Given the description of an element on the screen output the (x, y) to click on. 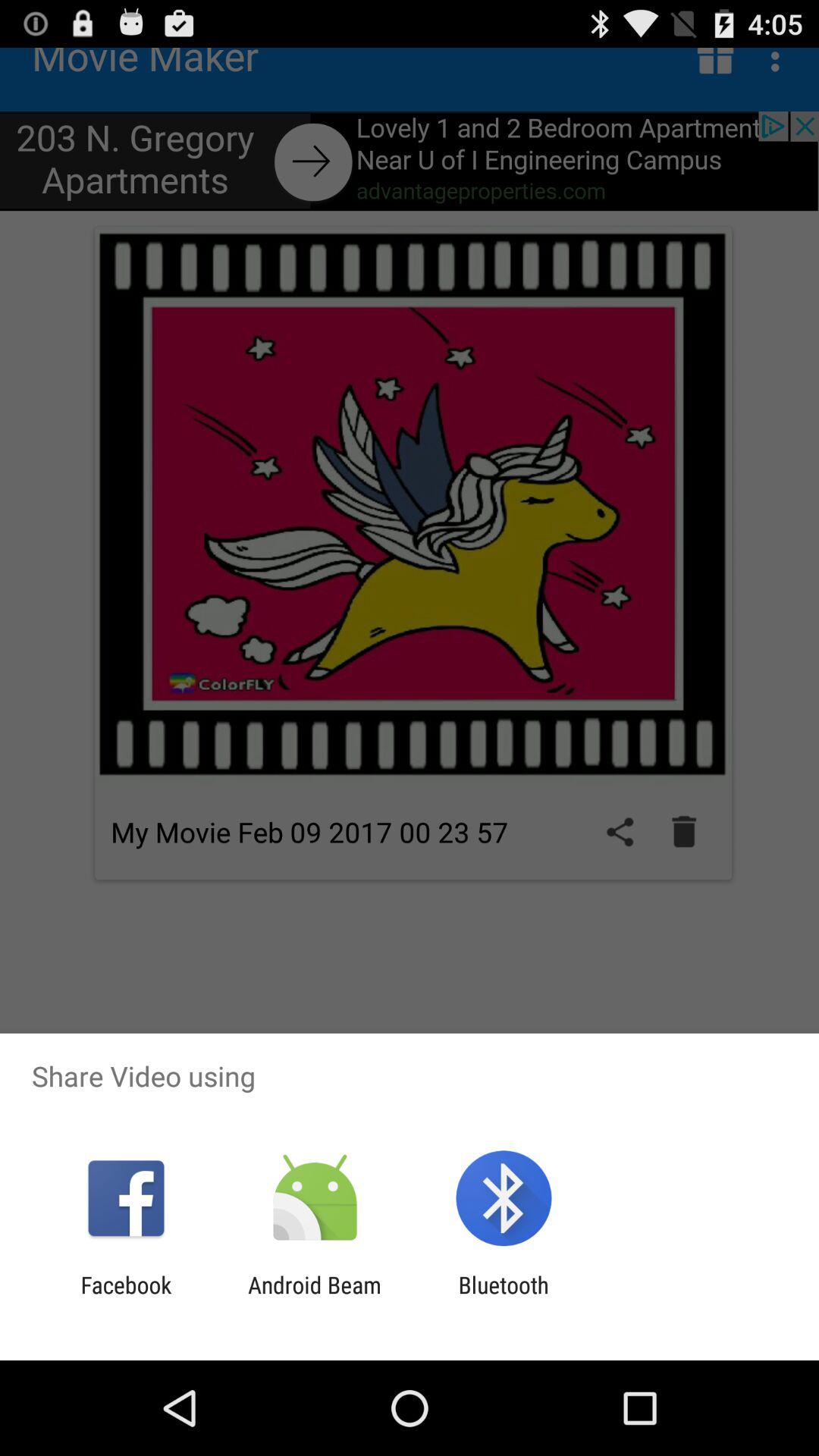
swipe until bluetooth item (503, 1298)
